Given the description of an element on the screen output the (x, y) to click on. 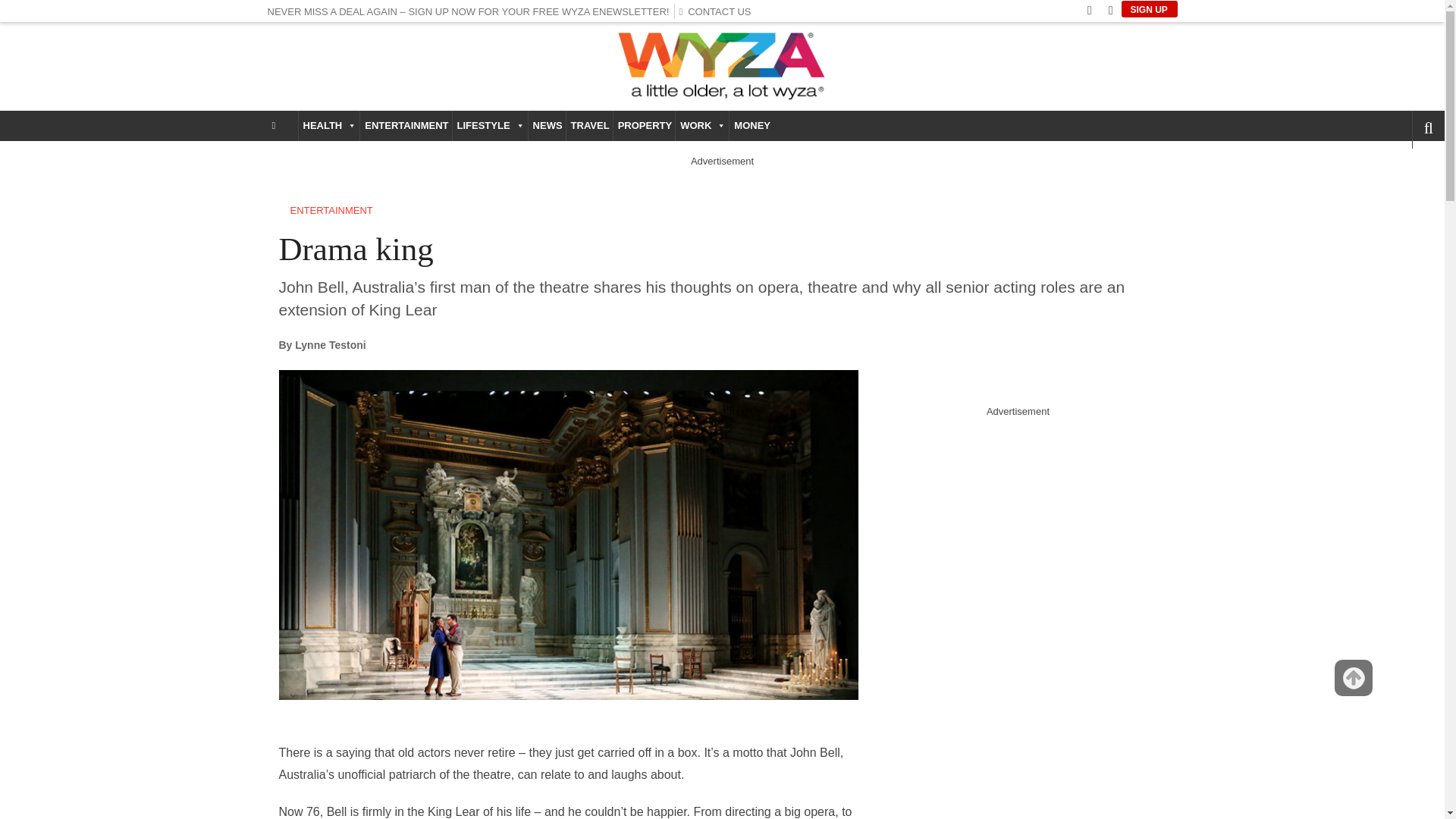
CONTACT US (718, 11)
TRAVEL (589, 125)
PROPERTY (643, 125)
LIFESTYLE (489, 125)
WORK (702, 125)
NEWS (547, 125)
HEALTH (328, 125)
SIGN UP (1148, 8)
Search (1402, 170)
ENTERTAINMENT (405, 125)
